Given the description of an element on the screen output the (x, y) to click on. 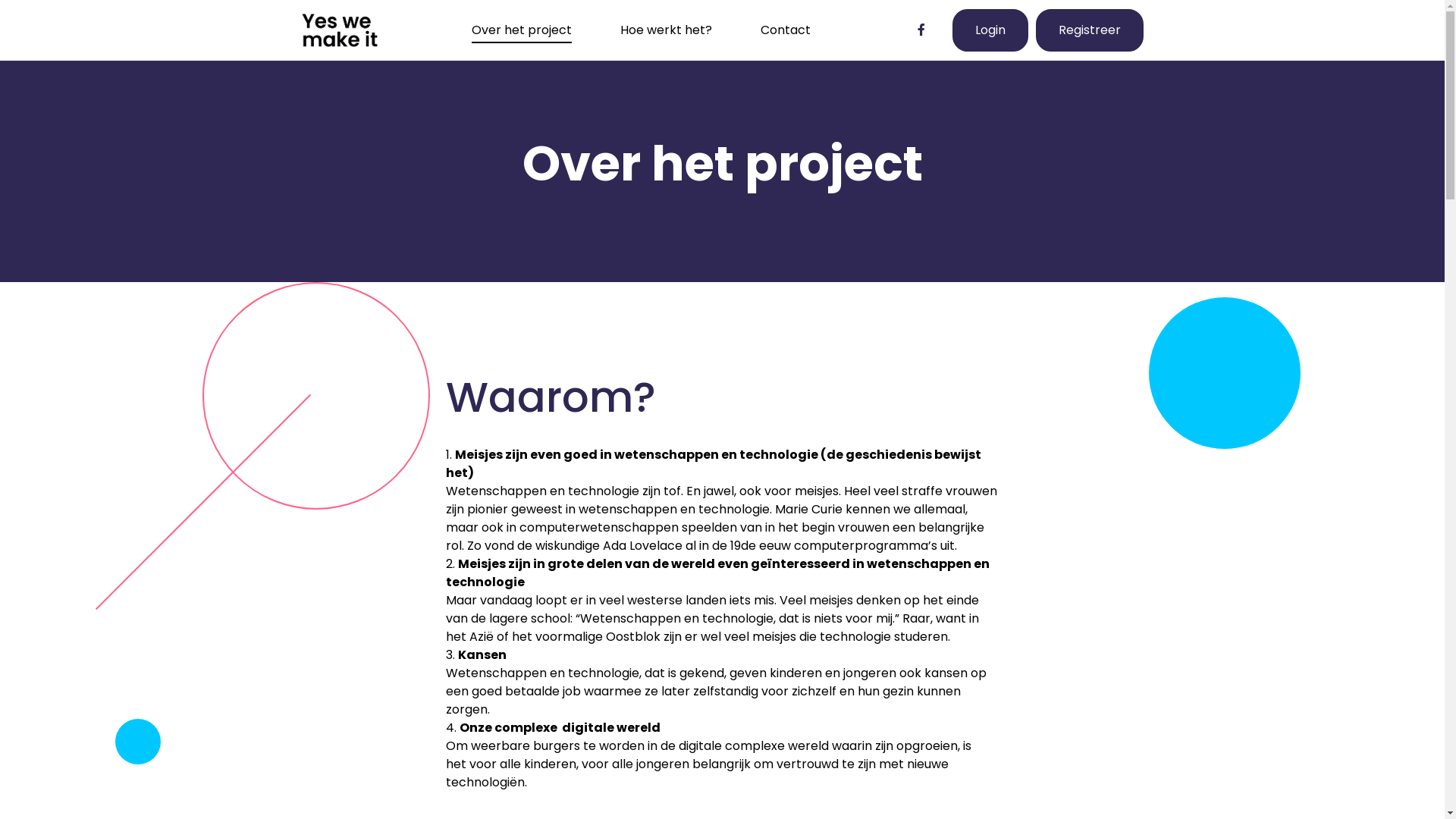
Registreer Element type: text (1089, 29)
Hoe werkt het? Element type: text (666, 30)
Over het project Element type: text (521, 30)
Login Element type: text (990, 29)
Contact Element type: text (785, 30)
